Given the description of an element on the screen output the (x, y) to click on. 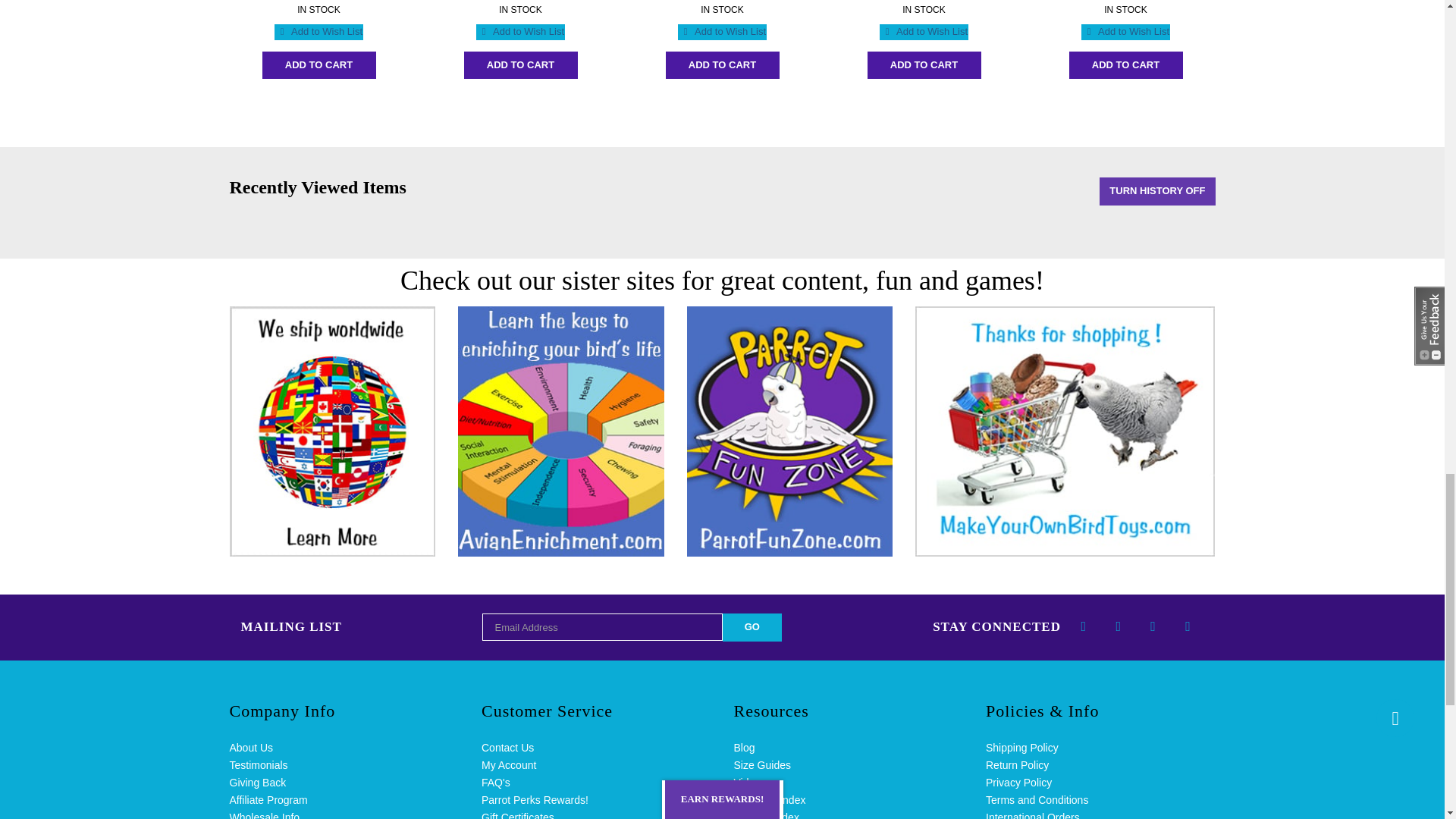
Subscribe to our Channel (1153, 626)
Like Us on Facebook (1083, 626)
Follow Us on Twitter (1118, 626)
Follow Us on Pinterest (1186, 626)
